Given the description of an element on the screen output the (x, y) to click on. 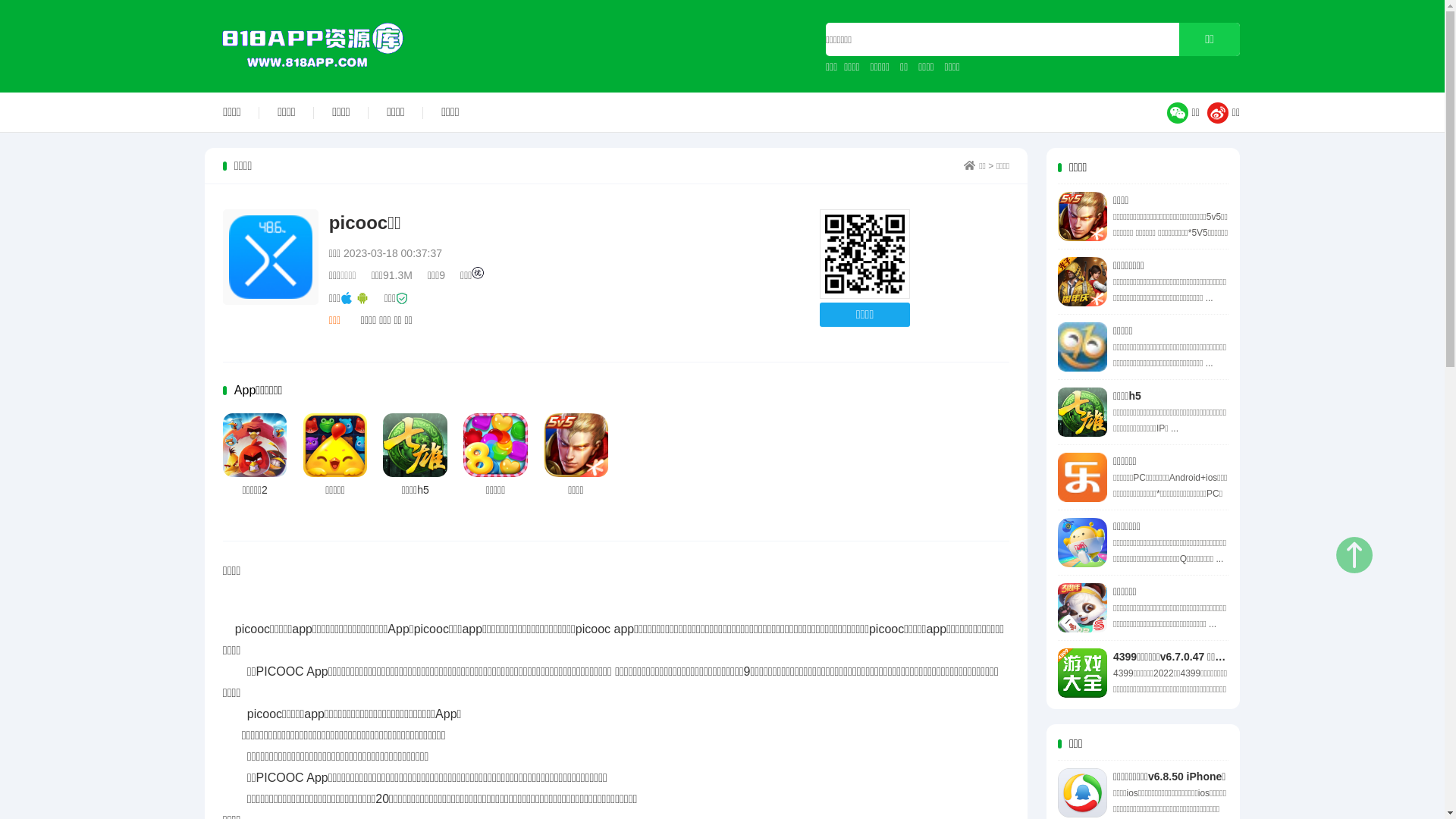
http://www.818app.com Element type: hover (864, 254)
